Given the description of an element on the screen output the (x, y) to click on. 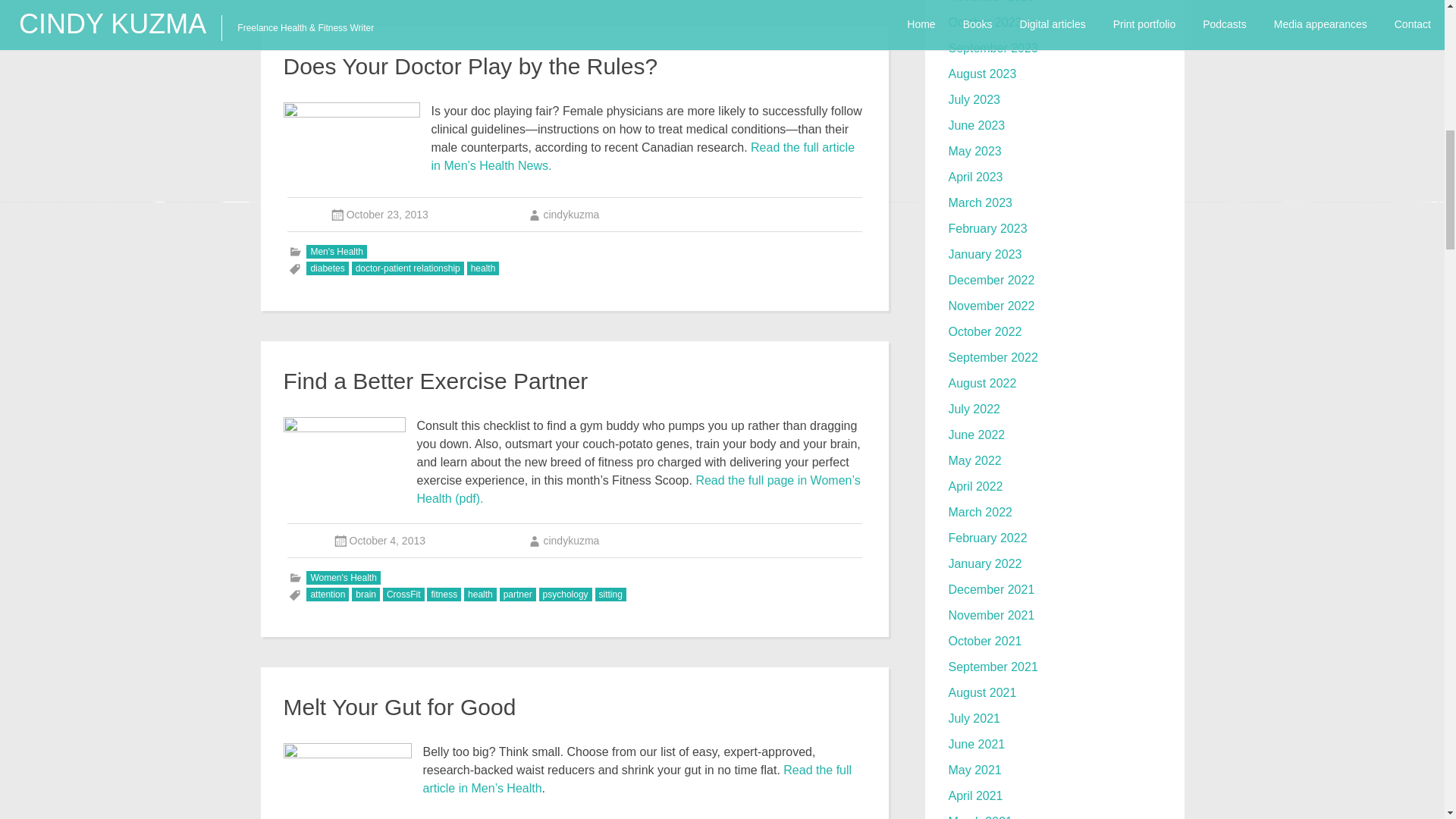
Does Your Doctor Play by the Rules? (470, 66)
